Given the description of an element on the screen output the (x, y) to click on. 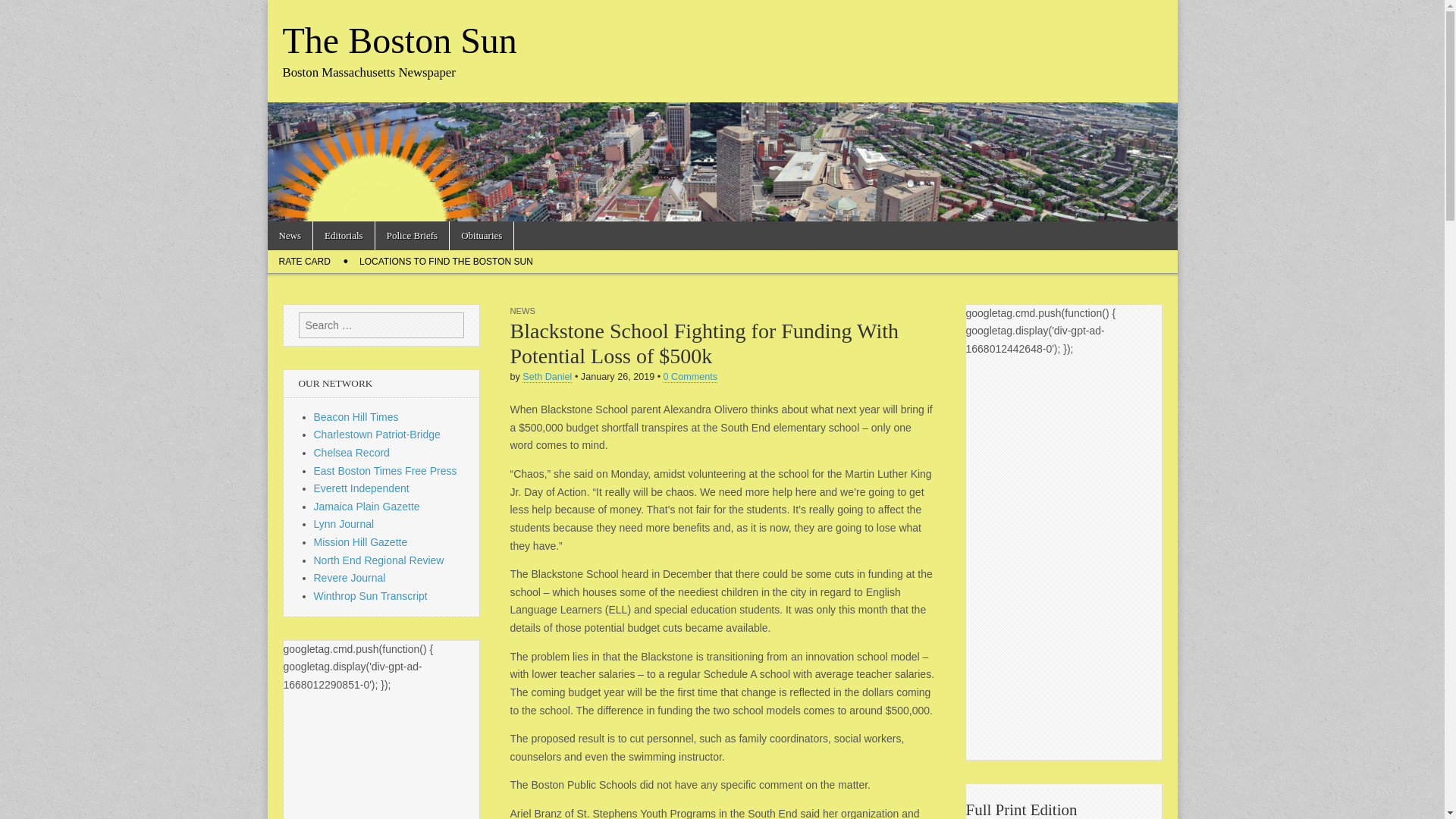
Posts by Seth Daniel (547, 377)
North End Regional Review (379, 560)
Mission Hill Gazette (360, 541)
East Boston Times Free Press (385, 470)
Jamaica Plain Gazette (367, 506)
Charlestown Patriot-Bridge (377, 434)
LOCATIONS TO FIND THE BOSTON SUN (445, 261)
News (289, 235)
Beacon Hill Times (356, 417)
